Given the description of an element on the screen output the (x, y) to click on. 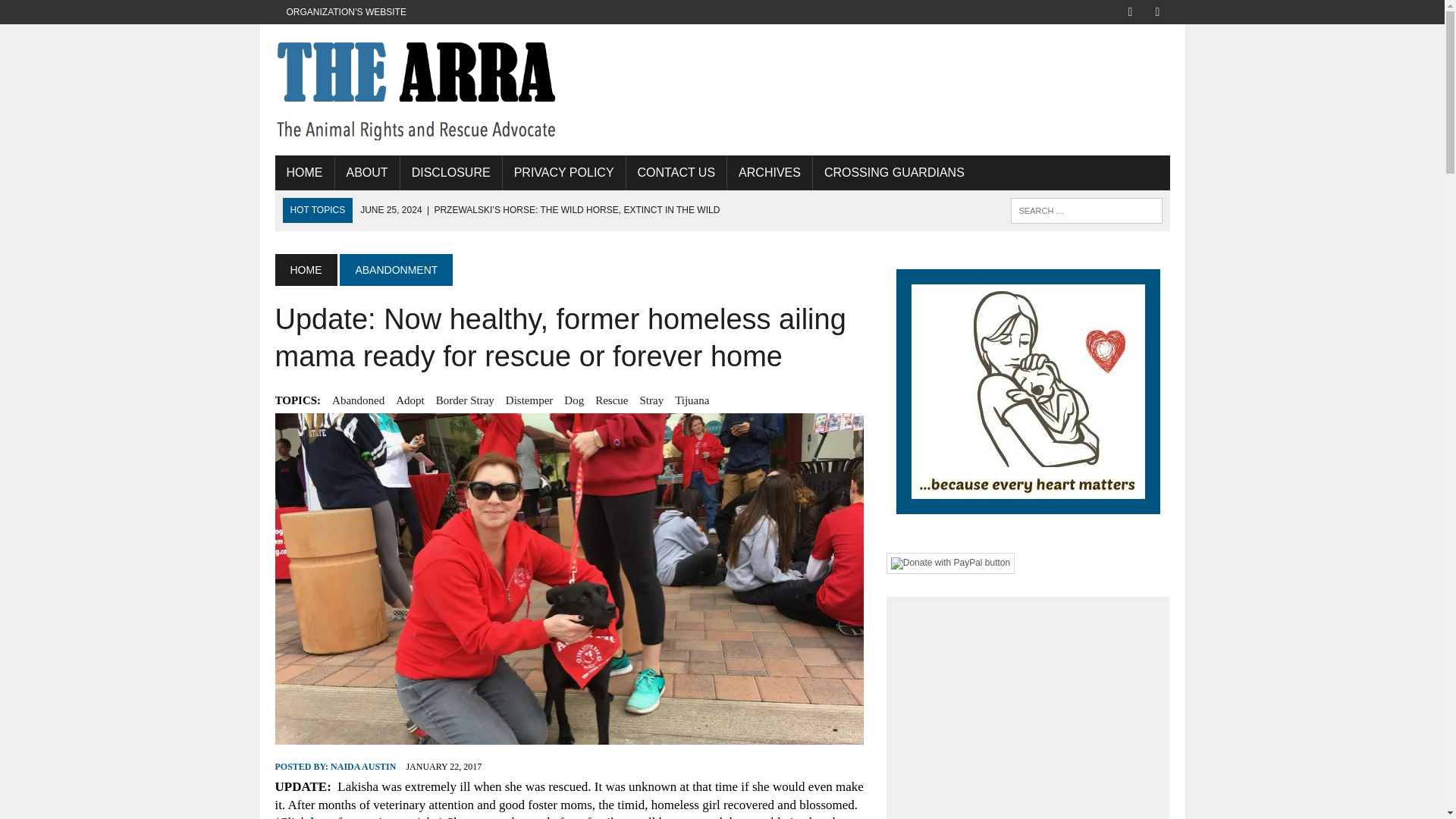
Tijuana (692, 400)
HOME (305, 269)
The ARRA (416, 89)
HOME (304, 172)
Adopt (410, 400)
Stray (651, 400)
NAIDA AUSTIN (363, 766)
CONTACT US (676, 172)
ABANDONMENT (395, 269)
CROSSING GUARDIANS (893, 172)
ABOUT (366, 172)
Rescue (611, 400)
DISCLOSURE (451, 172)
PRIVACY POLICY (564, 172)
Border Stray (465, 400)
